Given the description of an element on the screen output the (x, y) to click on. 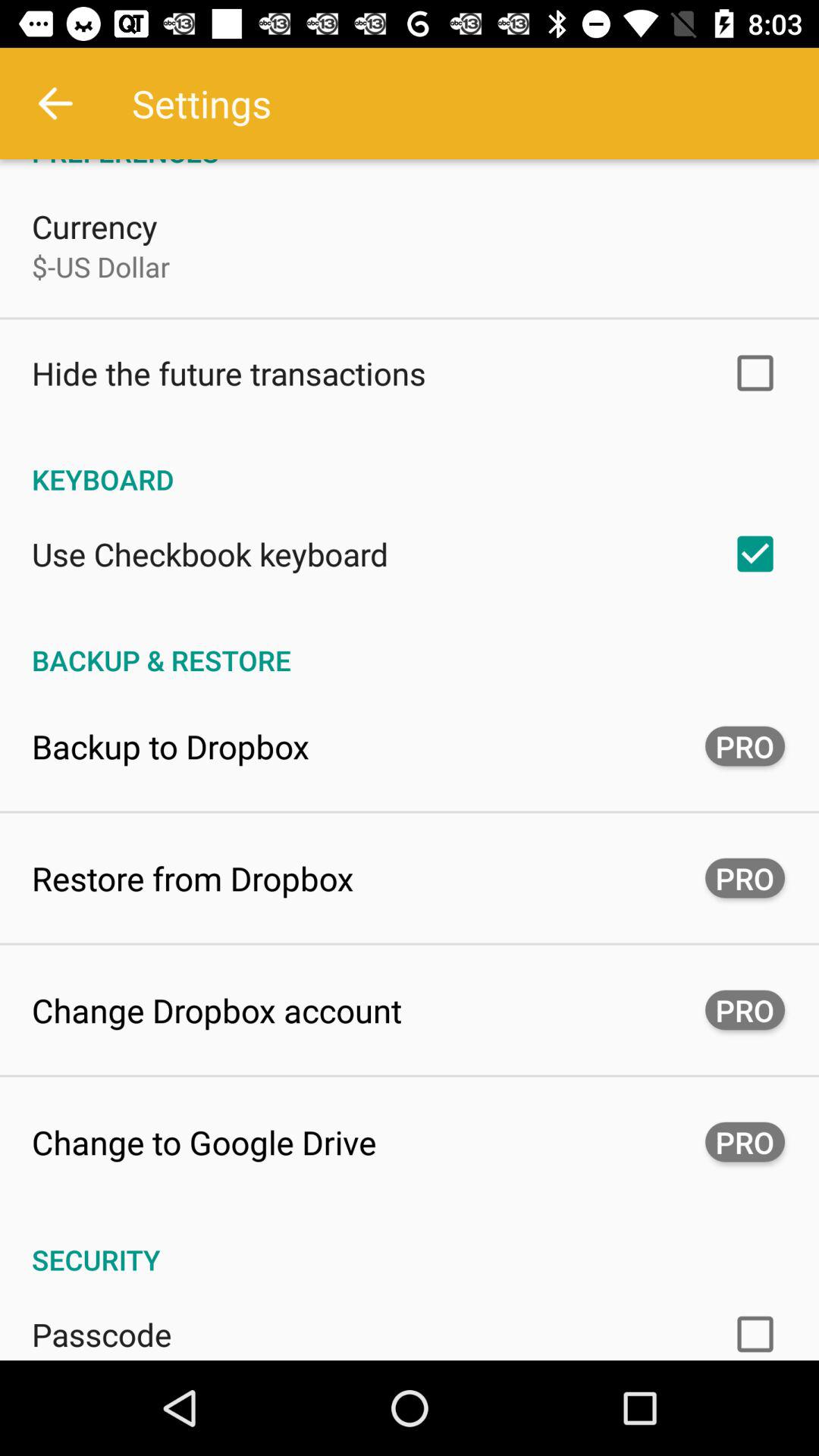
click the item above the $-us dollar item (94, 225)
